Given the description of an element on the screen output the (x, y) to click on. 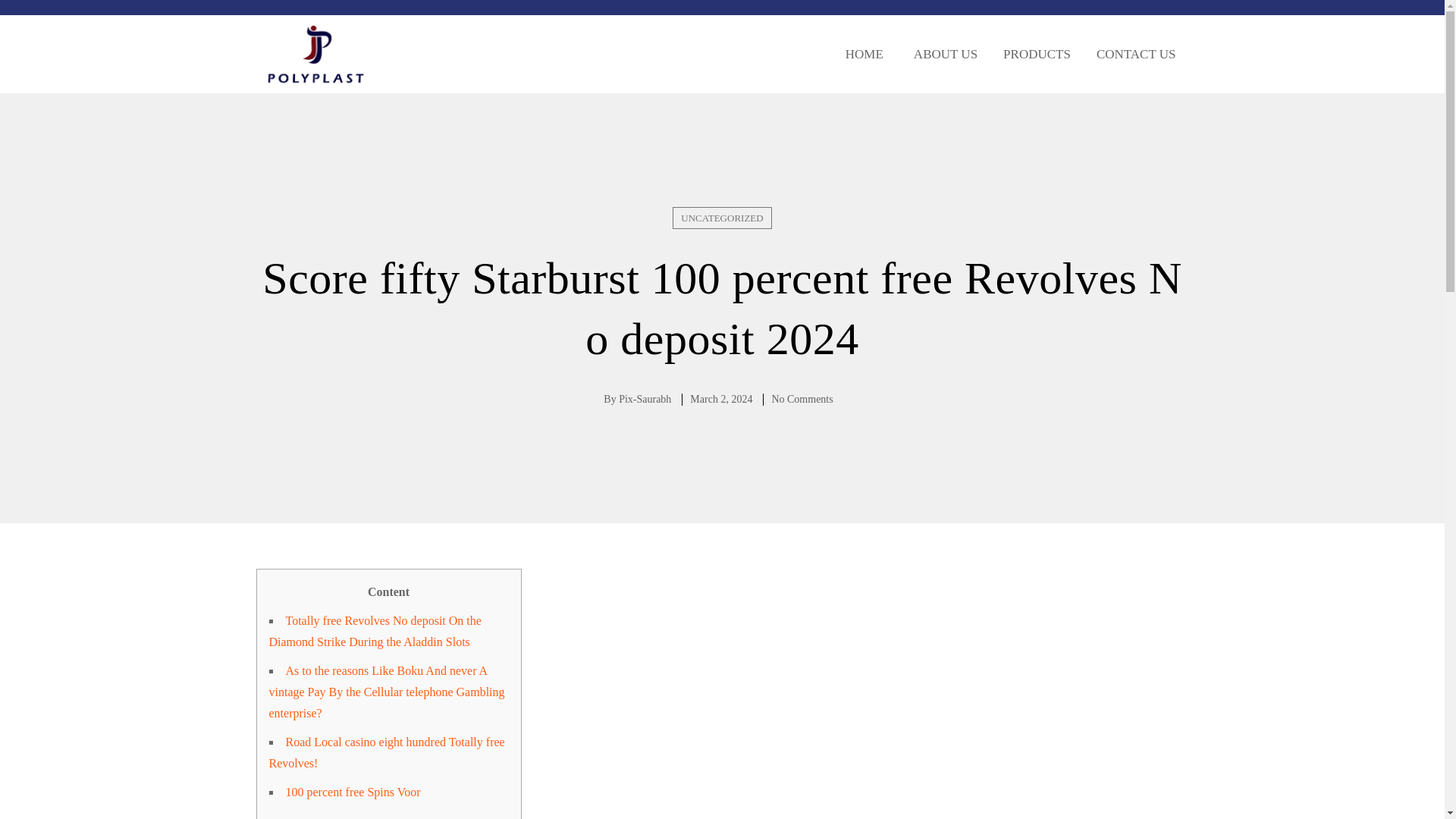
100 percent free Spins Voor (352, 791)
CONTACT US (1136, 54)
JP Polyplast (315, 54)
View all posts by pix-saurabh (644, 398)
Pix-Saurabh (644, 398)
PRODUCTS (1036, 54)
HOME (862, 54)
UNCATEGORIZED (721, 218)
